Given the description of an element on the screen output the (x, y) to click on. 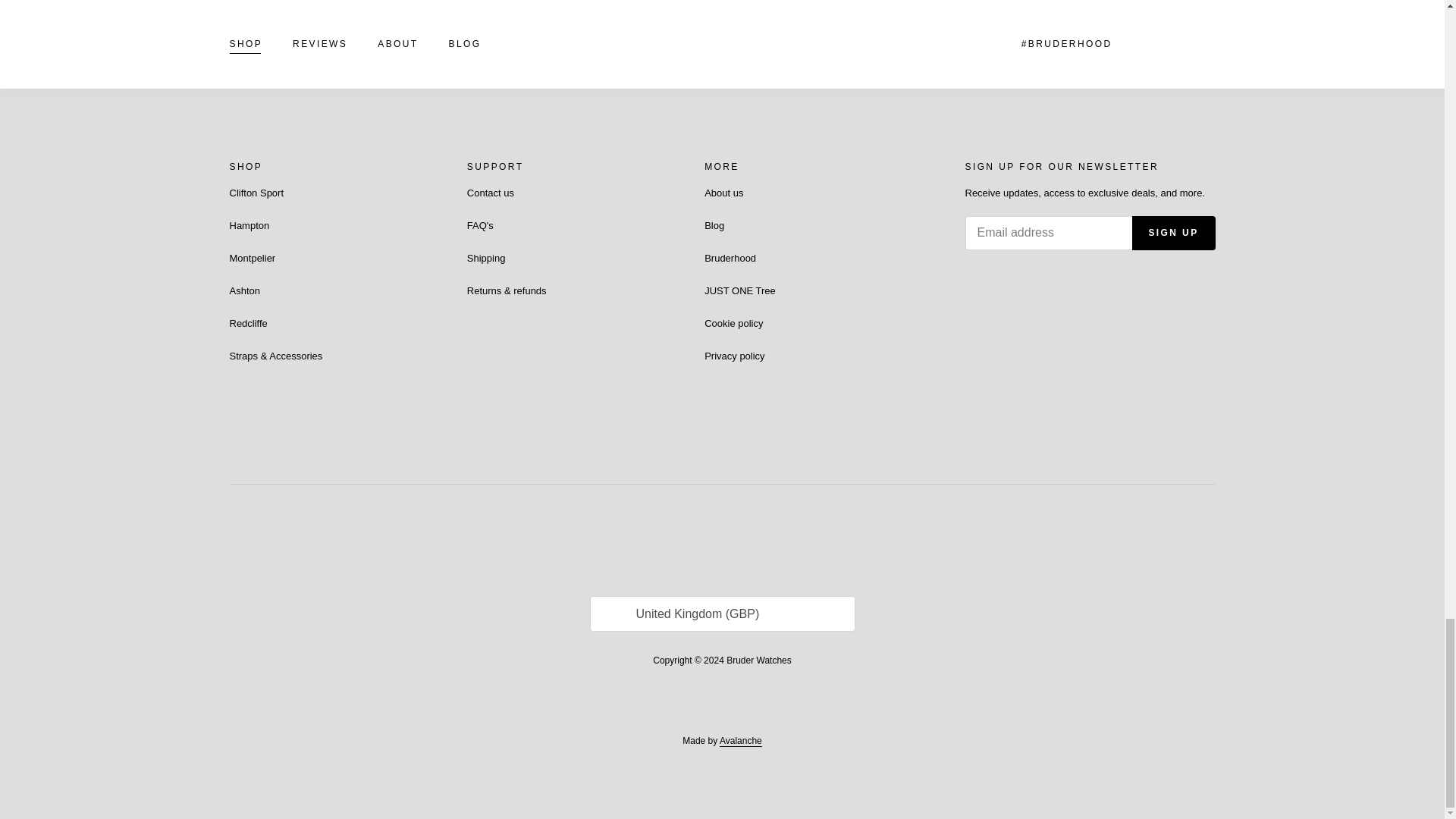
Montpelier (251, 258)
Hampton (248, 225)
Clifton Sport (255, 192)
SHOP (245, 166)
